Given the description of an element on the screen output the (x, y) to click on. 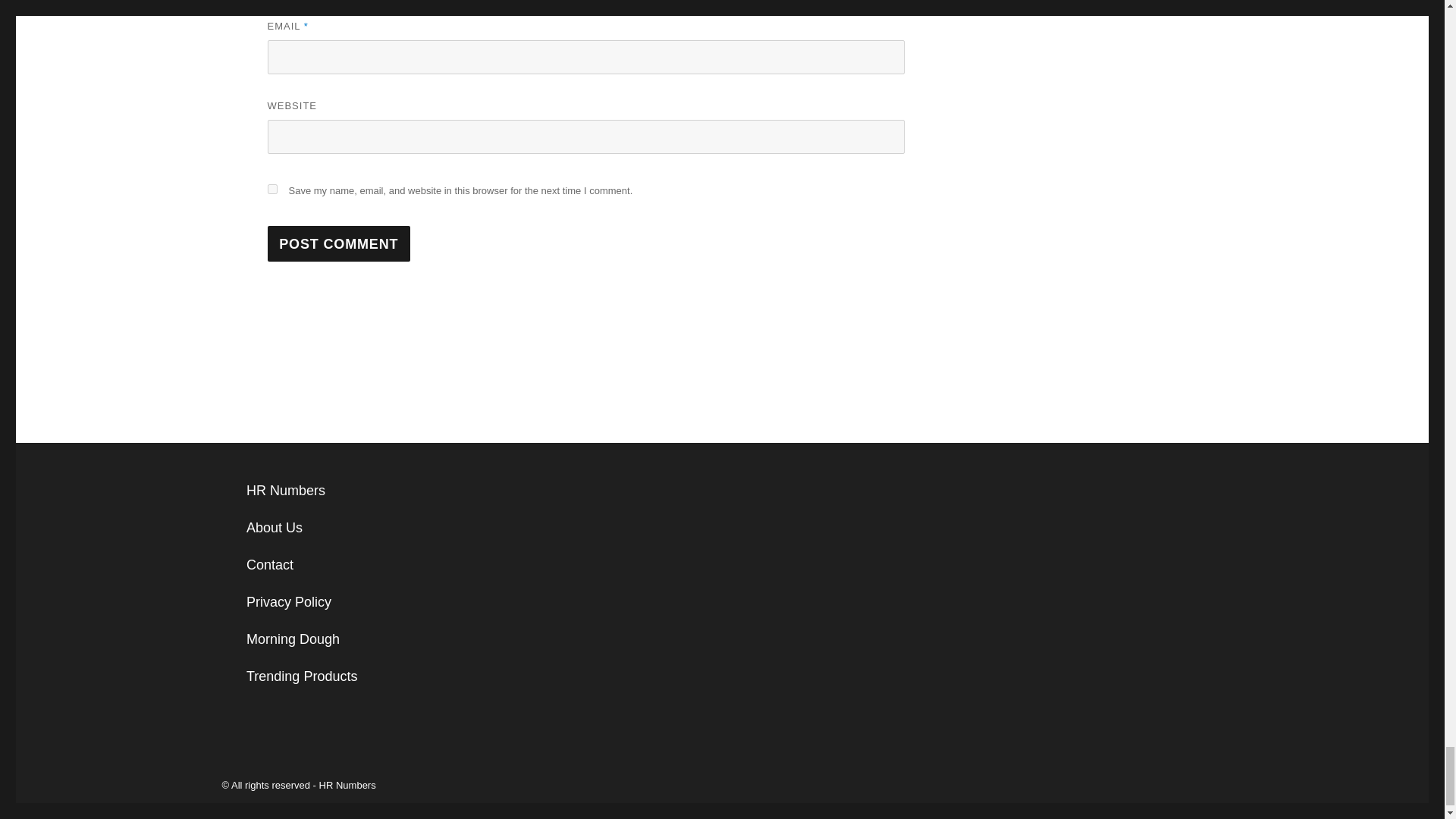
yes (271, 189)
Post Comment (338, 243)
Post Comment (338, 243)
